Given the description of an element on the screen output the (x, y) to click on. 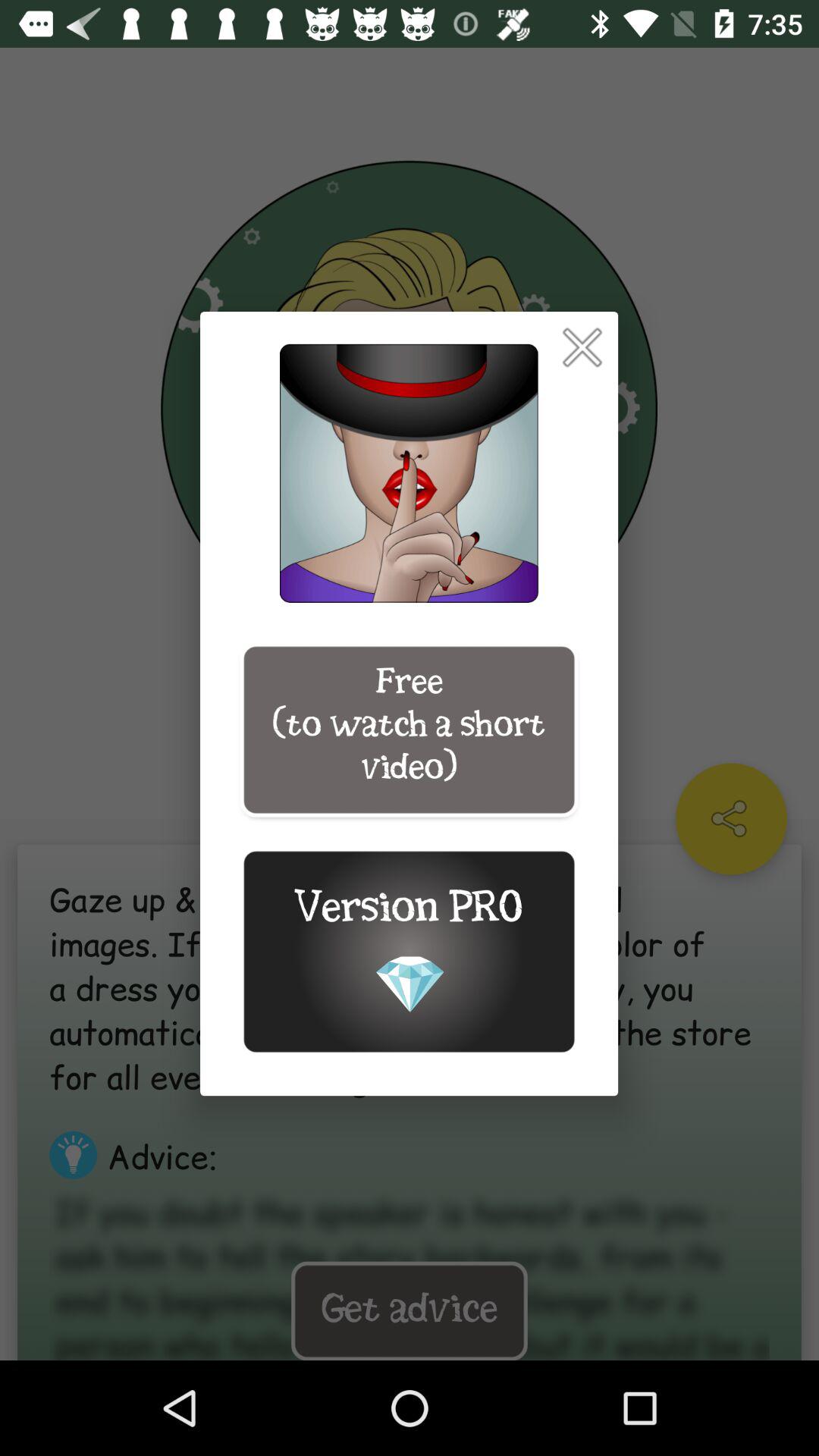
jump to free to watch item (409, 729)
